Given the description of an element on the screen output the (x, y) to click on. 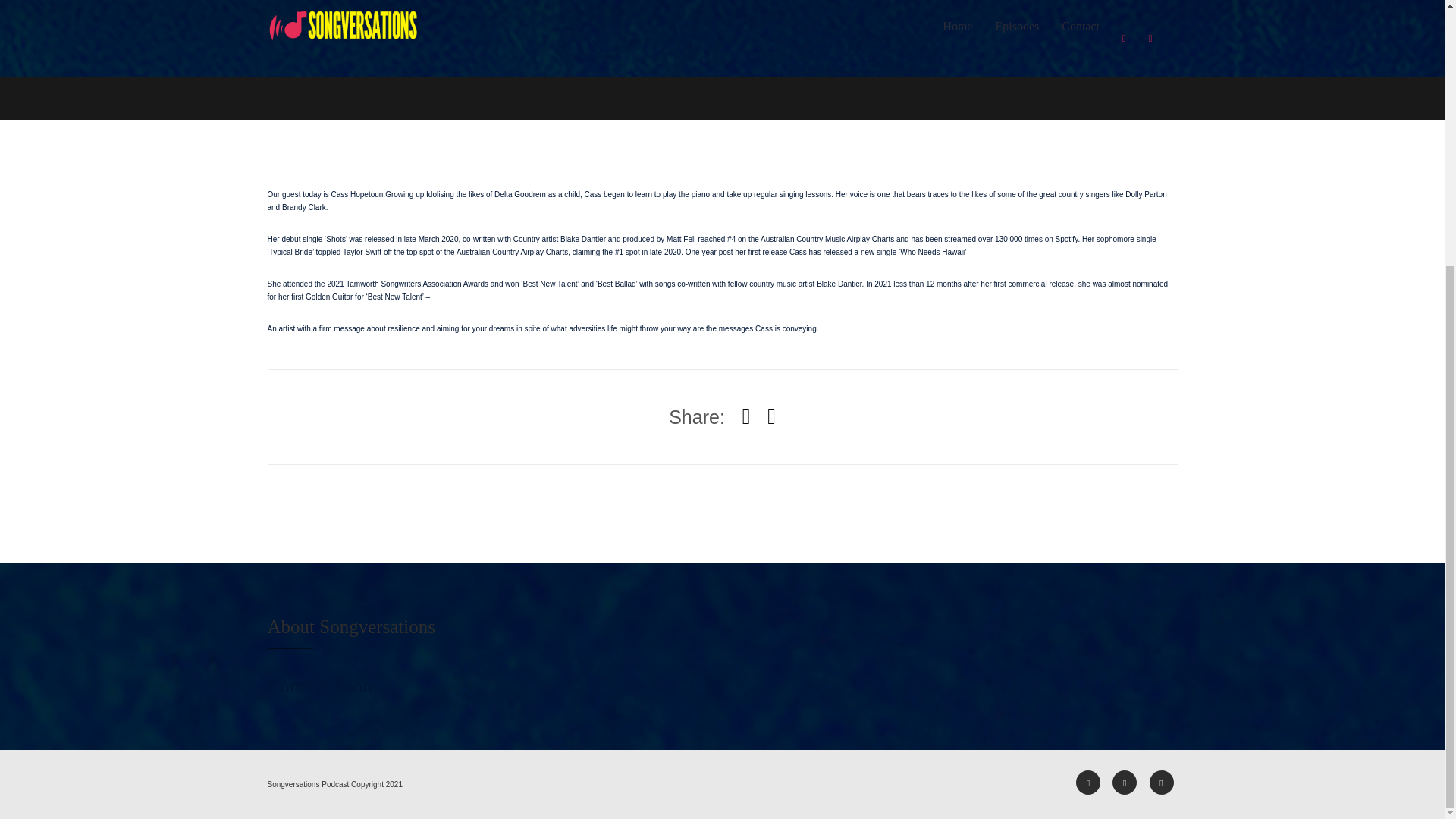
Share on Facebook (746, 416)
Facebook (1087, 782)
Instagram (1124, 782)
Share on E-mail (771, 416)
Email (1161, 782)
